Given the description of an element on the screen output the (x, y) to click on. 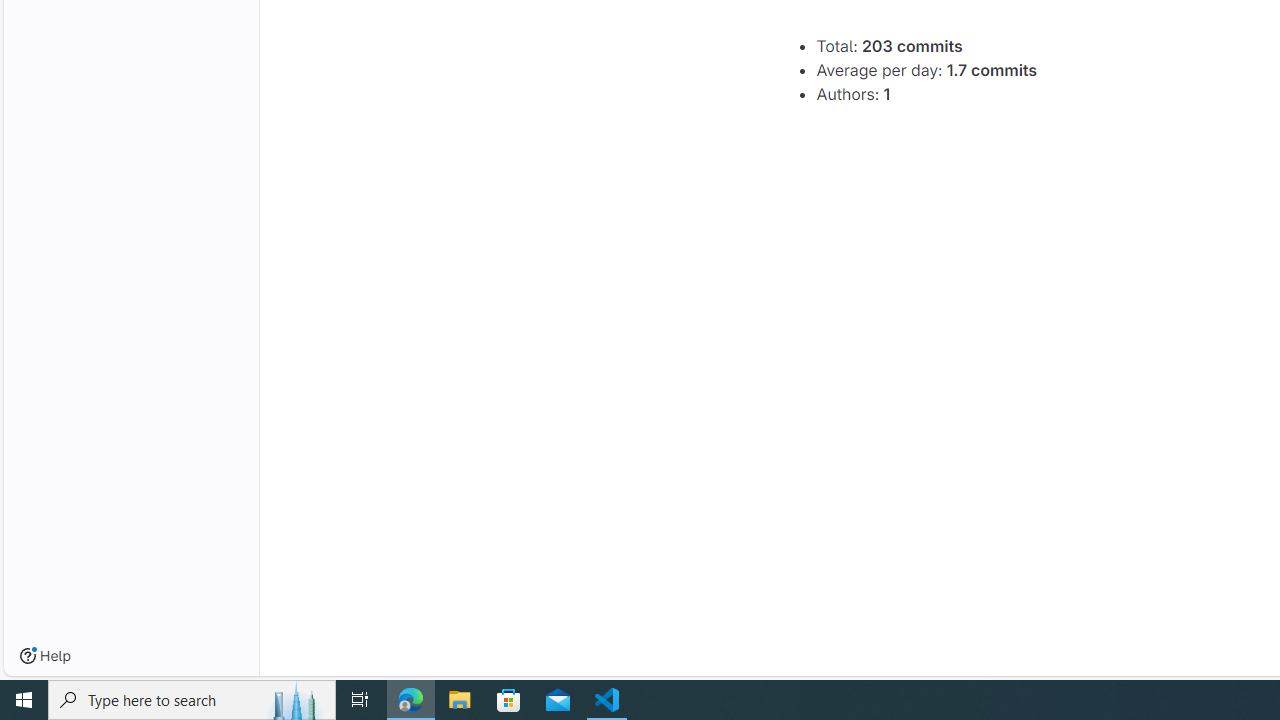
Help (45, 655)
